Given the description of an element on the screen output the (x, y) to click on. 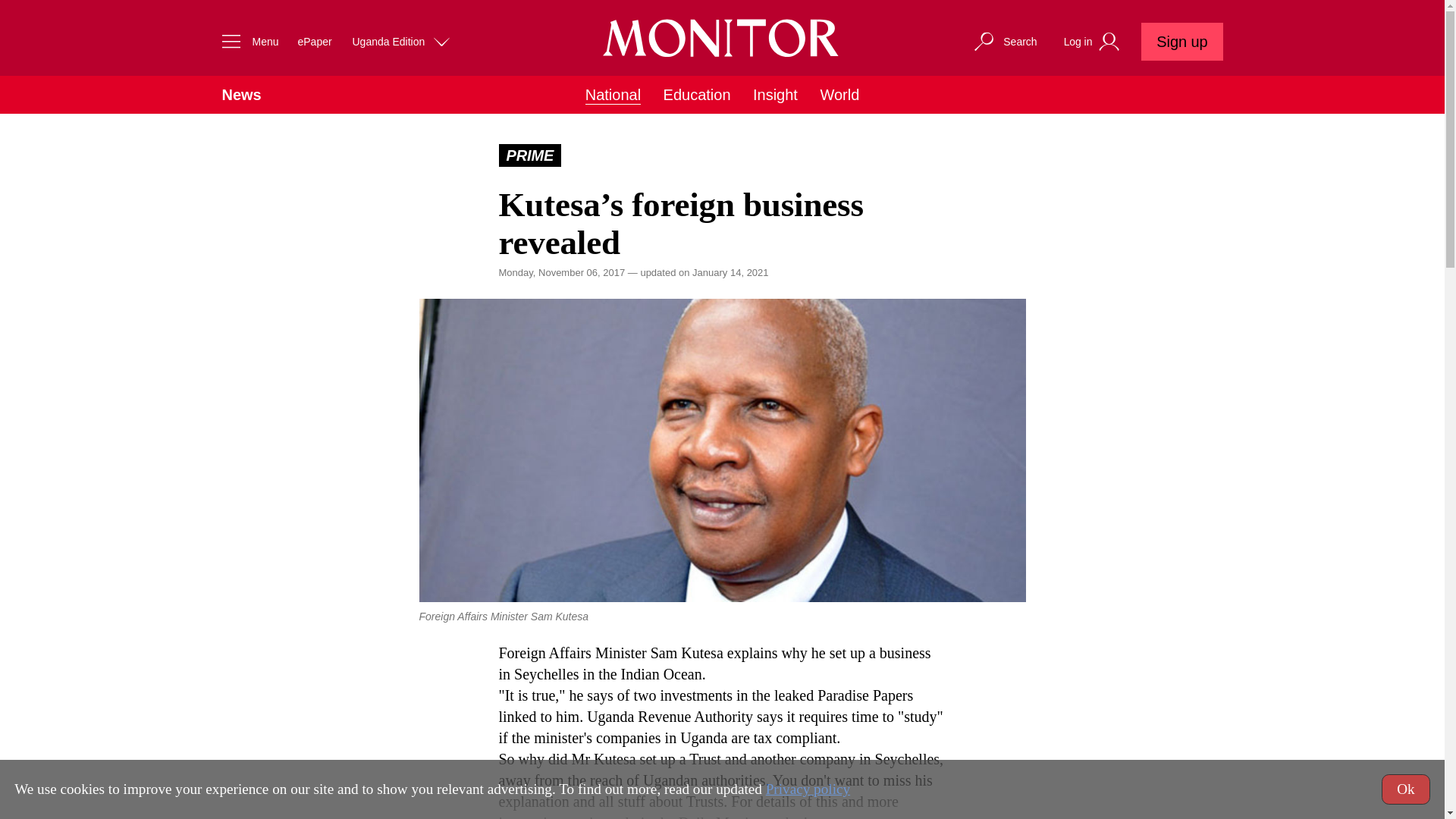
Education (696, 94)
Insight (774, 94)
Privacy policy (807, 788)
Log in (1094, 41)
Search (1003, 41)
Menu (246, 41)
News (240, 94)
World (839, 94)
Ok (1405, 788)
Sign up (1182, 41)
